Given the description of an element on the screen output the (x, y) to click on. 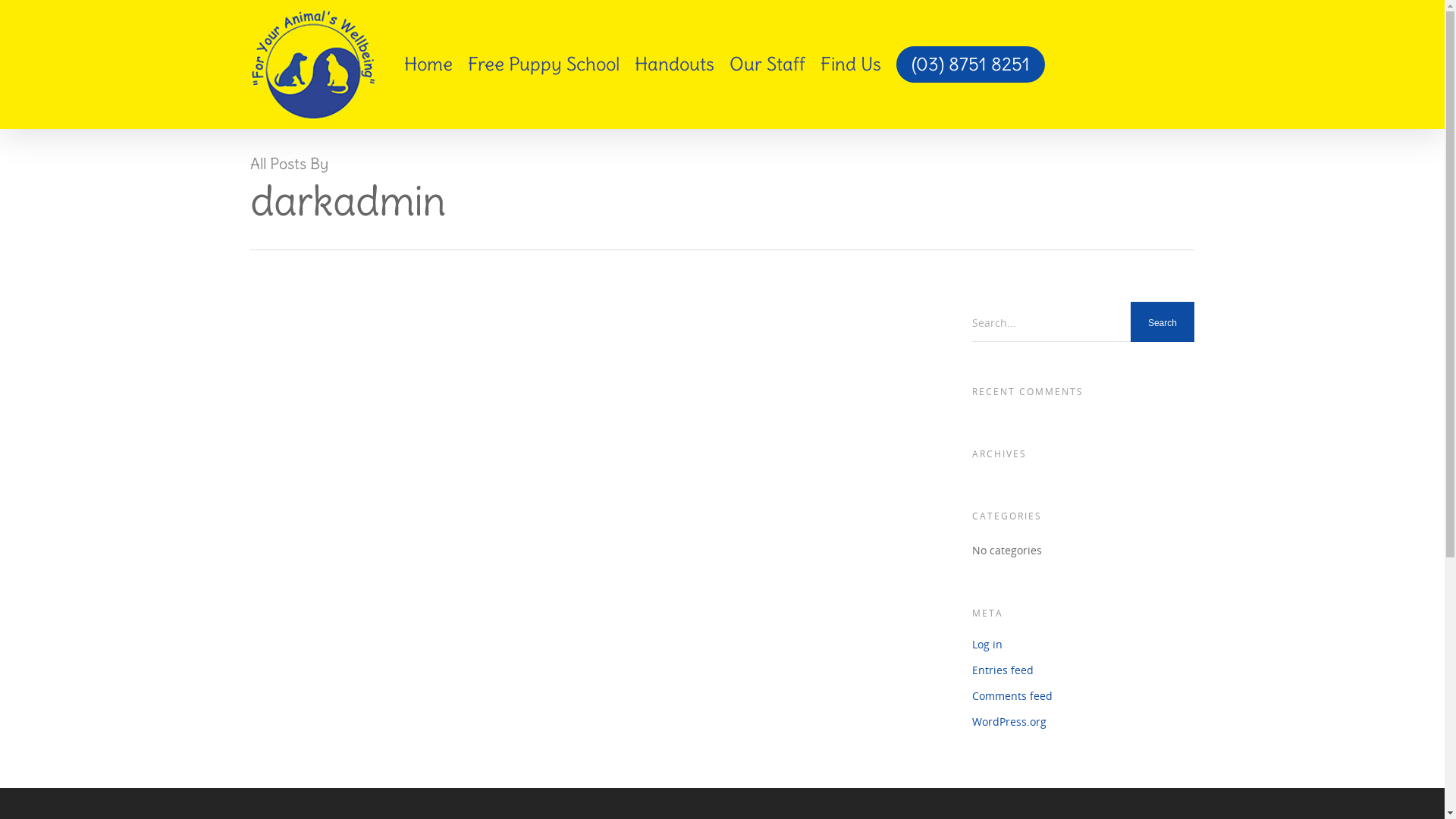
Entries feed Element type: text (1083, 670)
Comments feed Element type: text (1083, 696)
Find Us Element type: text (850, 67)
Log in Element type: text (1083, 644)
Home Element type: text (428, 67)
Handouts Element type: text (674, 67)
(03) 8751 8251 Element type: text (970, 67)
Search for: Element type: hover (1083, 323)
WordPress.org Element type: text (1083, 721)
Our Staff Element type: text (767, 67)
Search Element type: text (1162, 322)
Free Puppy School Element type: text (543, 67)
